Given the description of an element on the screen output the (x, y) to click on. 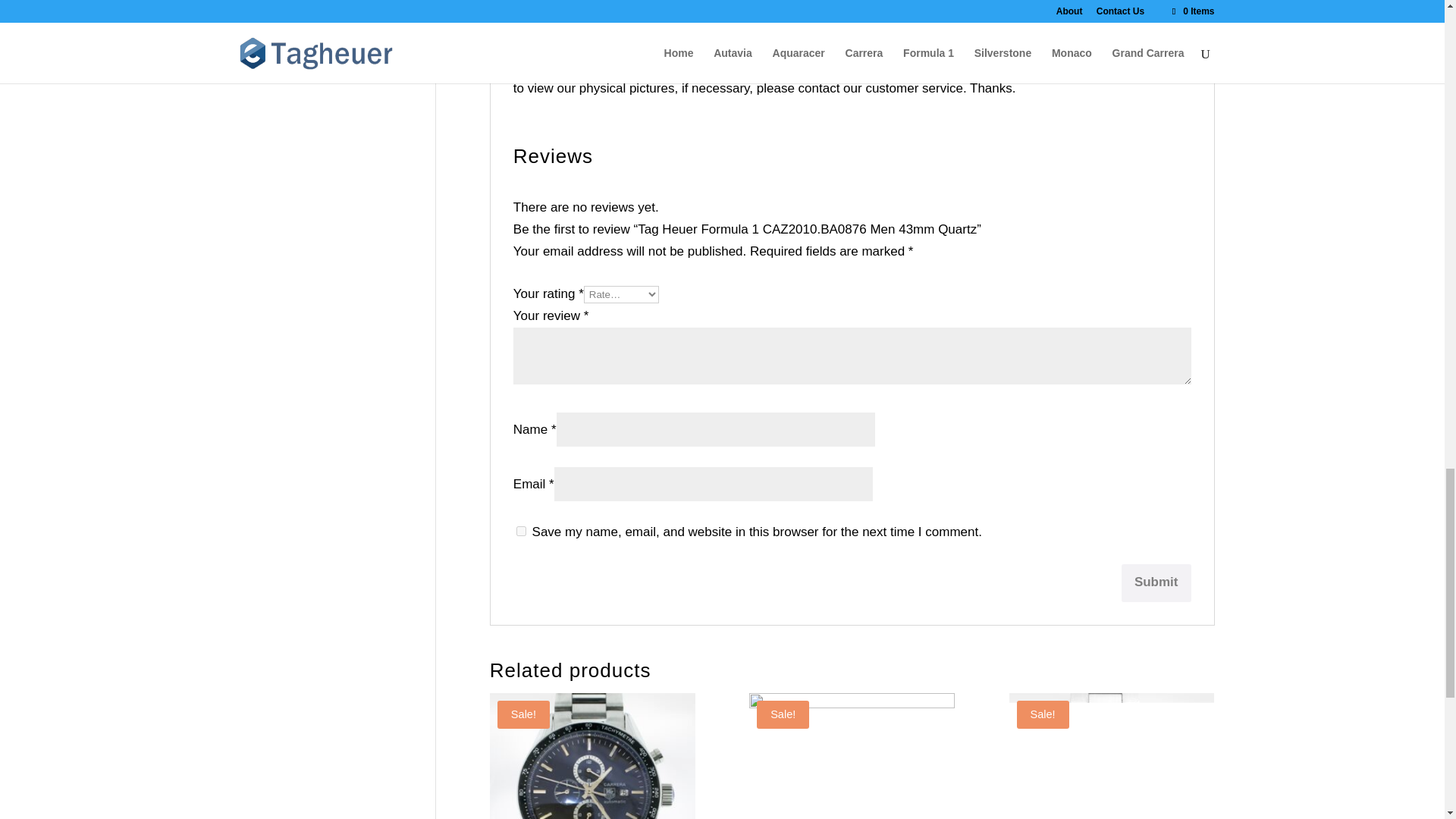
yes (520, 531)
Submit (1156, 582)
Submit (1156, 582)
